Given the description of an element on the screen output the (x, y) to click on. 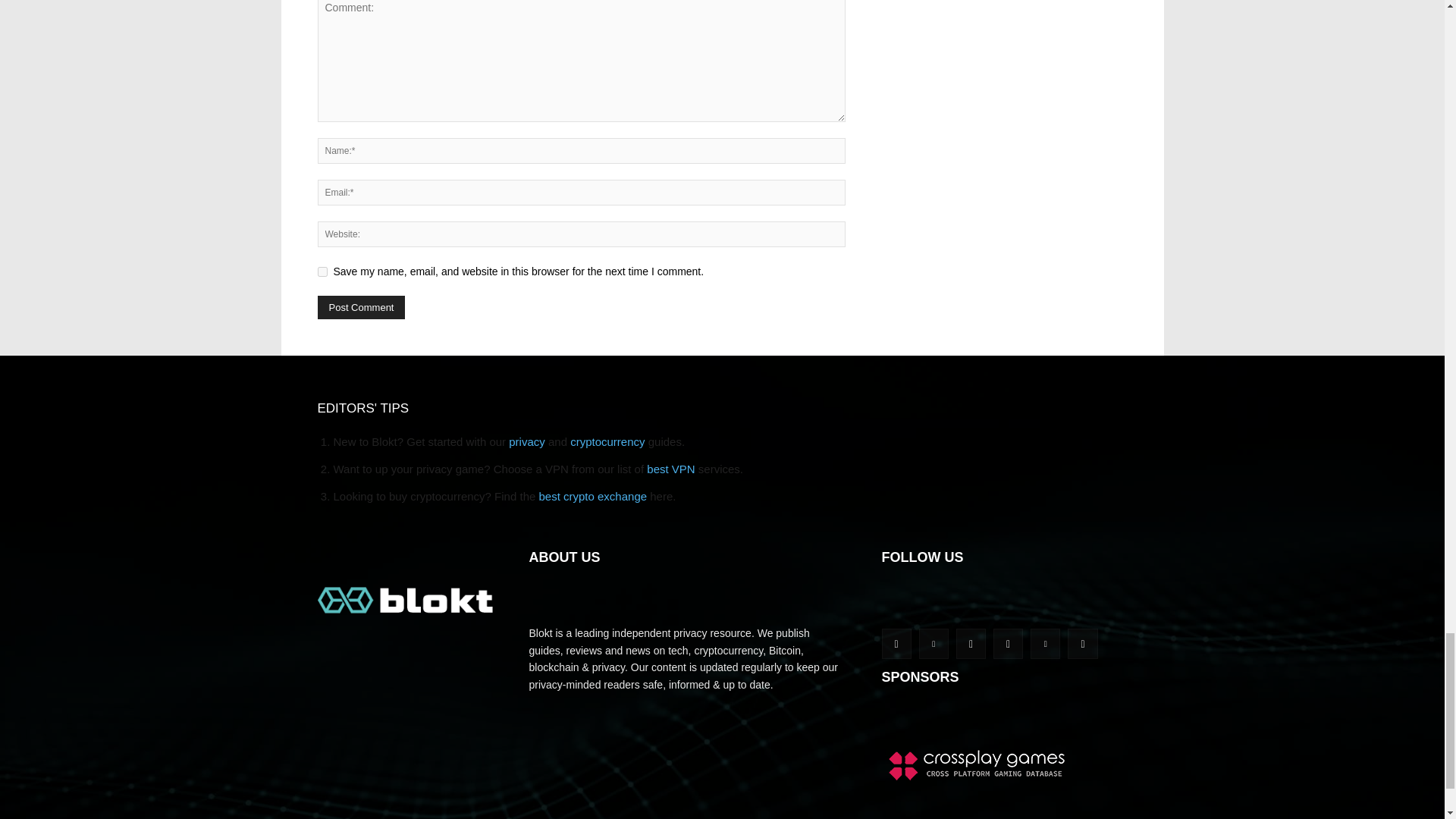
yes (321, 271)
Post Comment (360, 307)
